Given the description of an element on the screen output the (x, y) to click on. 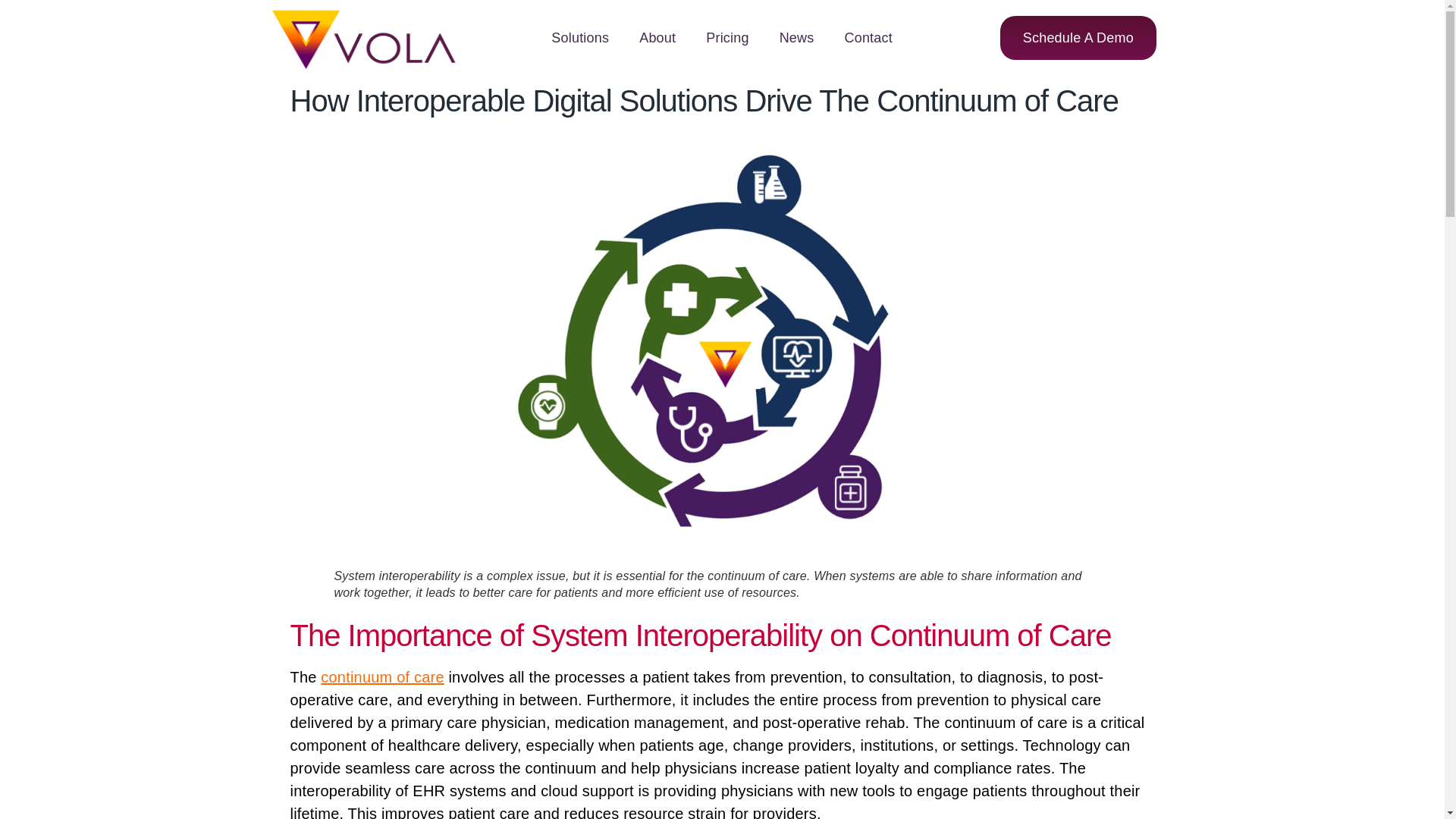
continuum of care (382, 677)
About (657, 37)
News (796, 37)
Pricing (726, 37)
Contact (867, 37)
Schedule A Demo (1078, 37)
Solutions (579, 37)
